Given the description of an element on the screen output the (x, y) to click on. 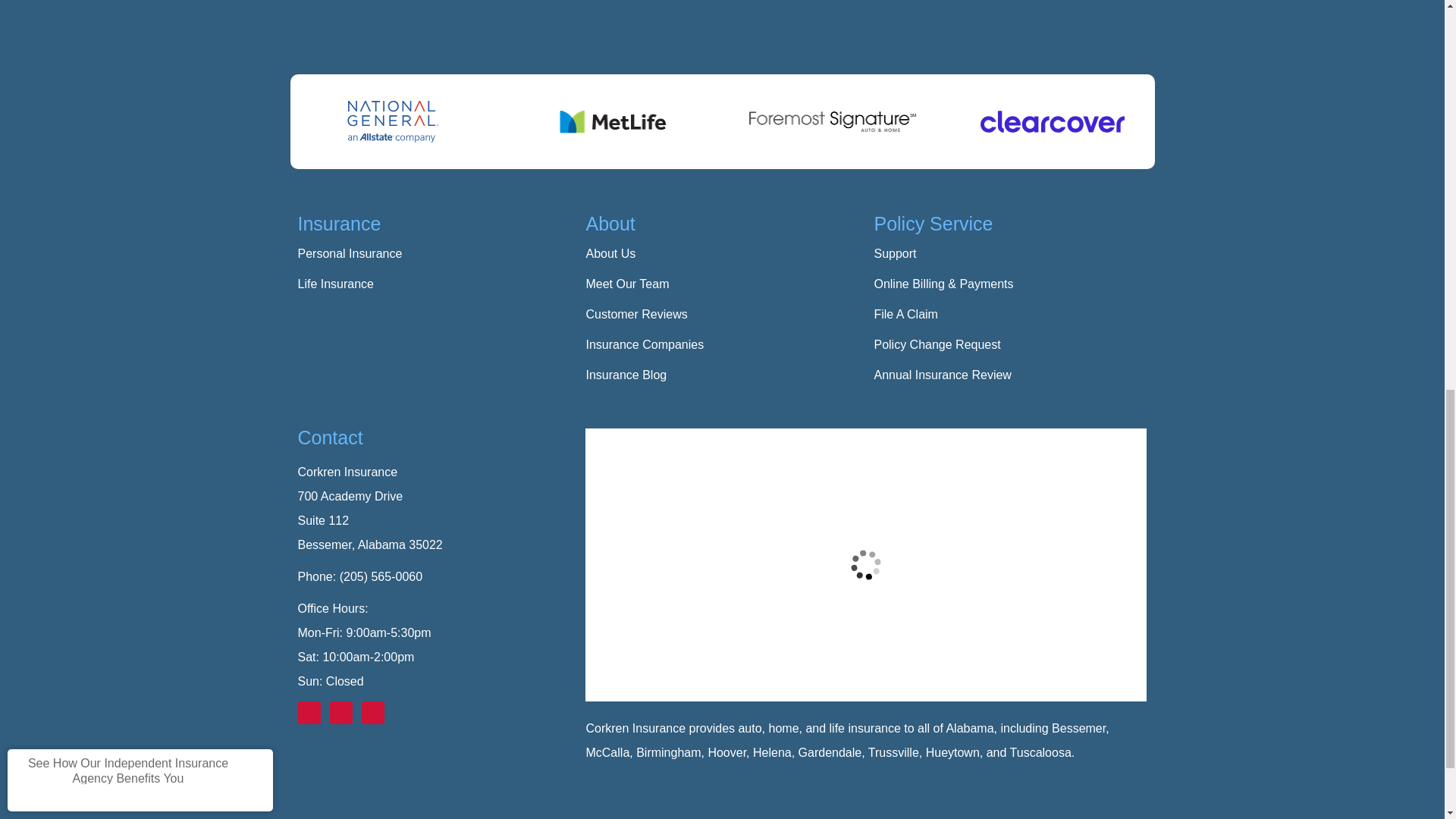
Learn more about Corkren Insurance and Foremost Signature (832, 121)
Learn more about Corkren Insurance and MetLife Insurance (611, 121)
Learn more about Corkren Insurance and Clearcover (1052, 121)
